Given the description of an element on the screen output the (x, y) to click on. 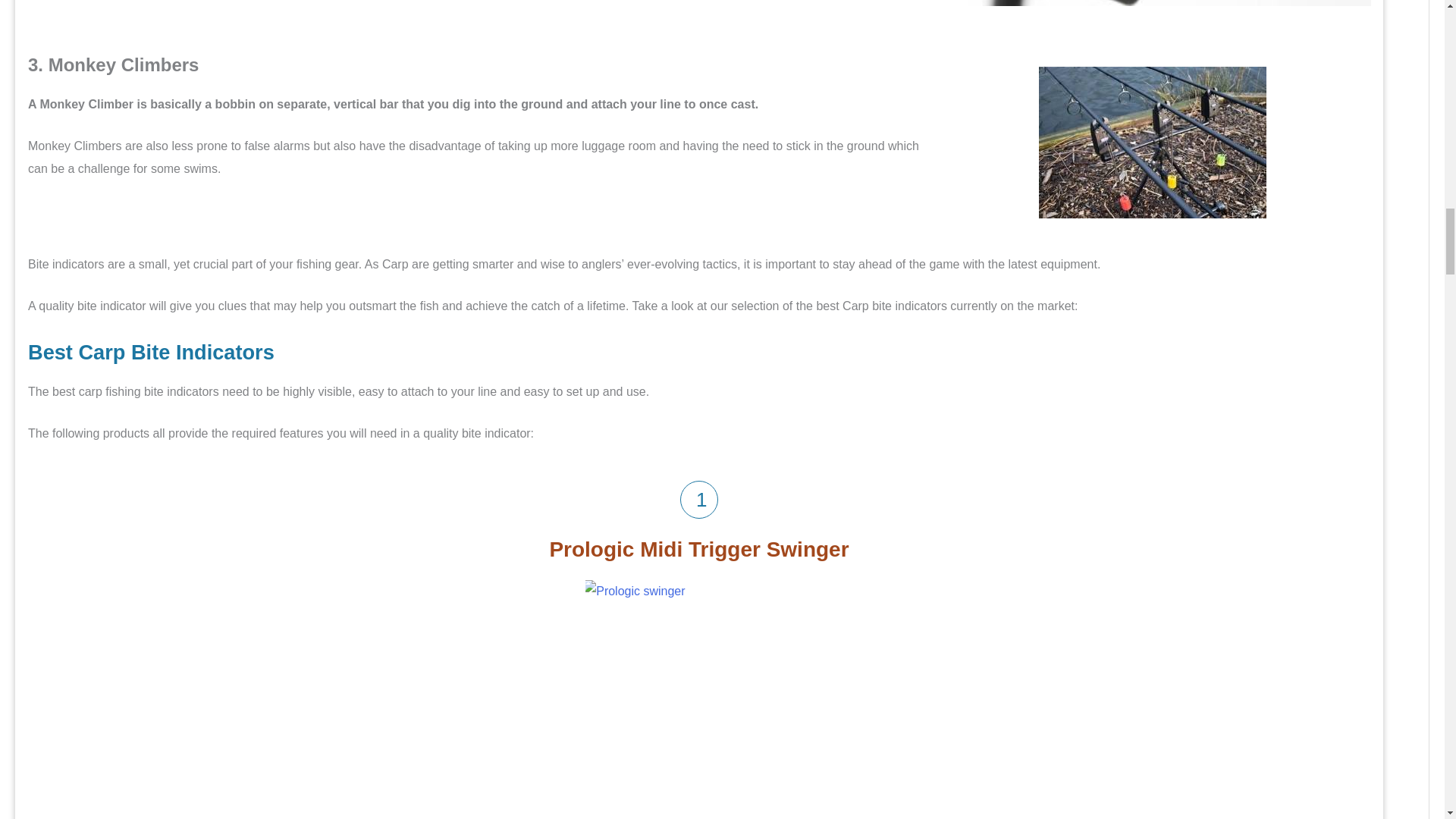
Prologic swinger (704, 699)
best carp bite indicator (1152, 2)
best carp bite indicator (1152, 142)
